Given the description of an element on the screen output the (x, y) to click on. 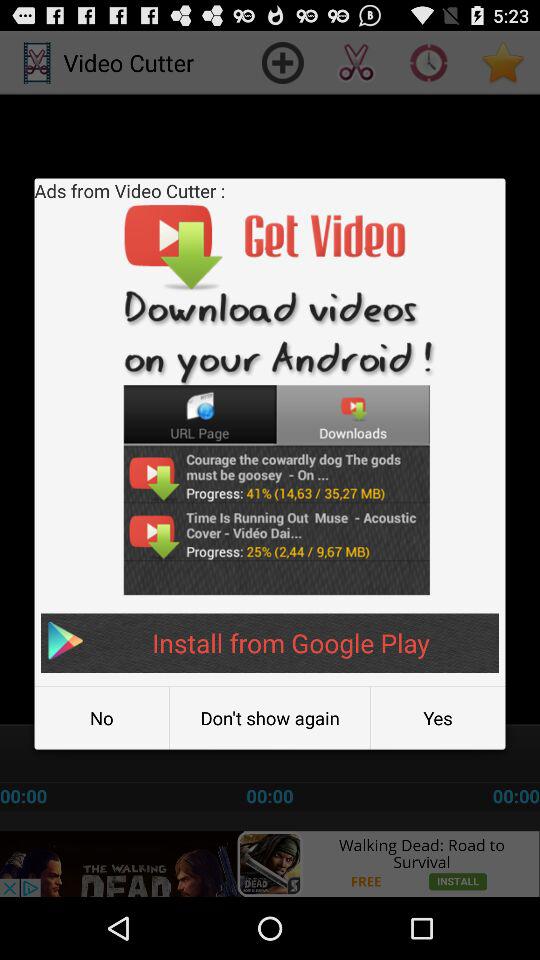
launch advertisement link (270, 864)
